Given the description of an element on the screen output the (x, y) to click on. 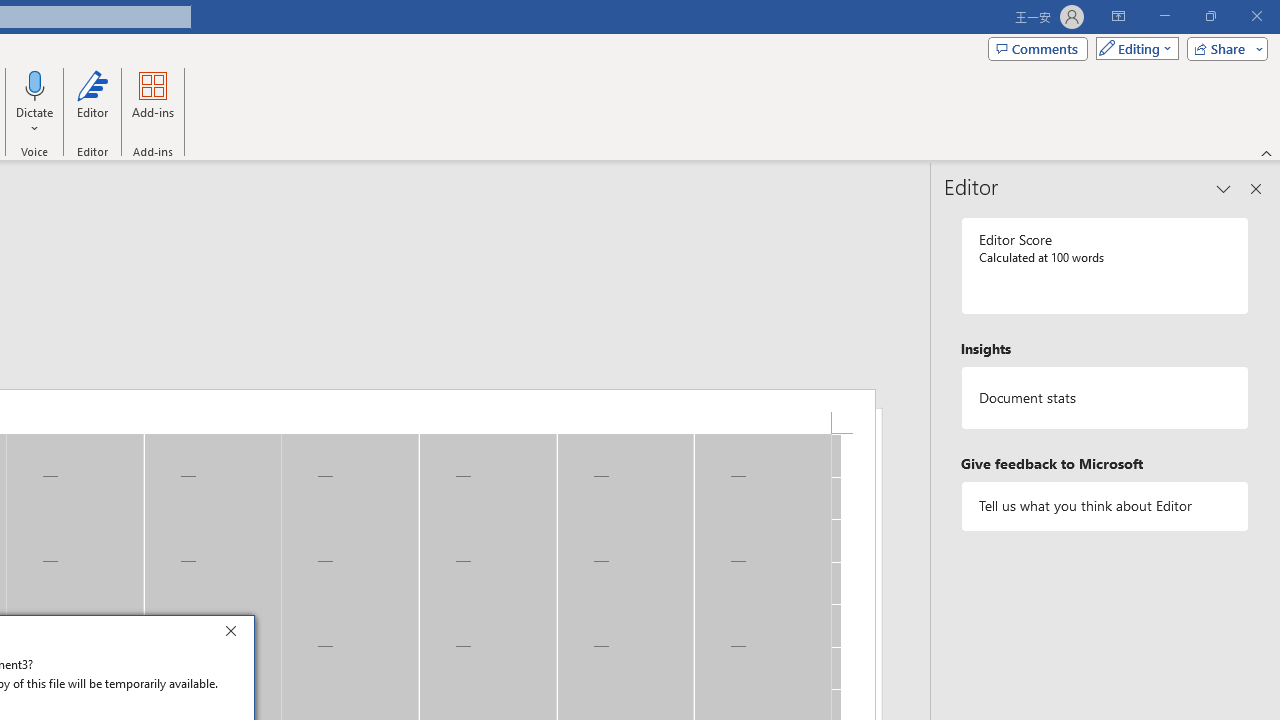
Tell us what you think about Editor (1105, 506)
